Given the description of an element on the screen output the (x, y) to click on. 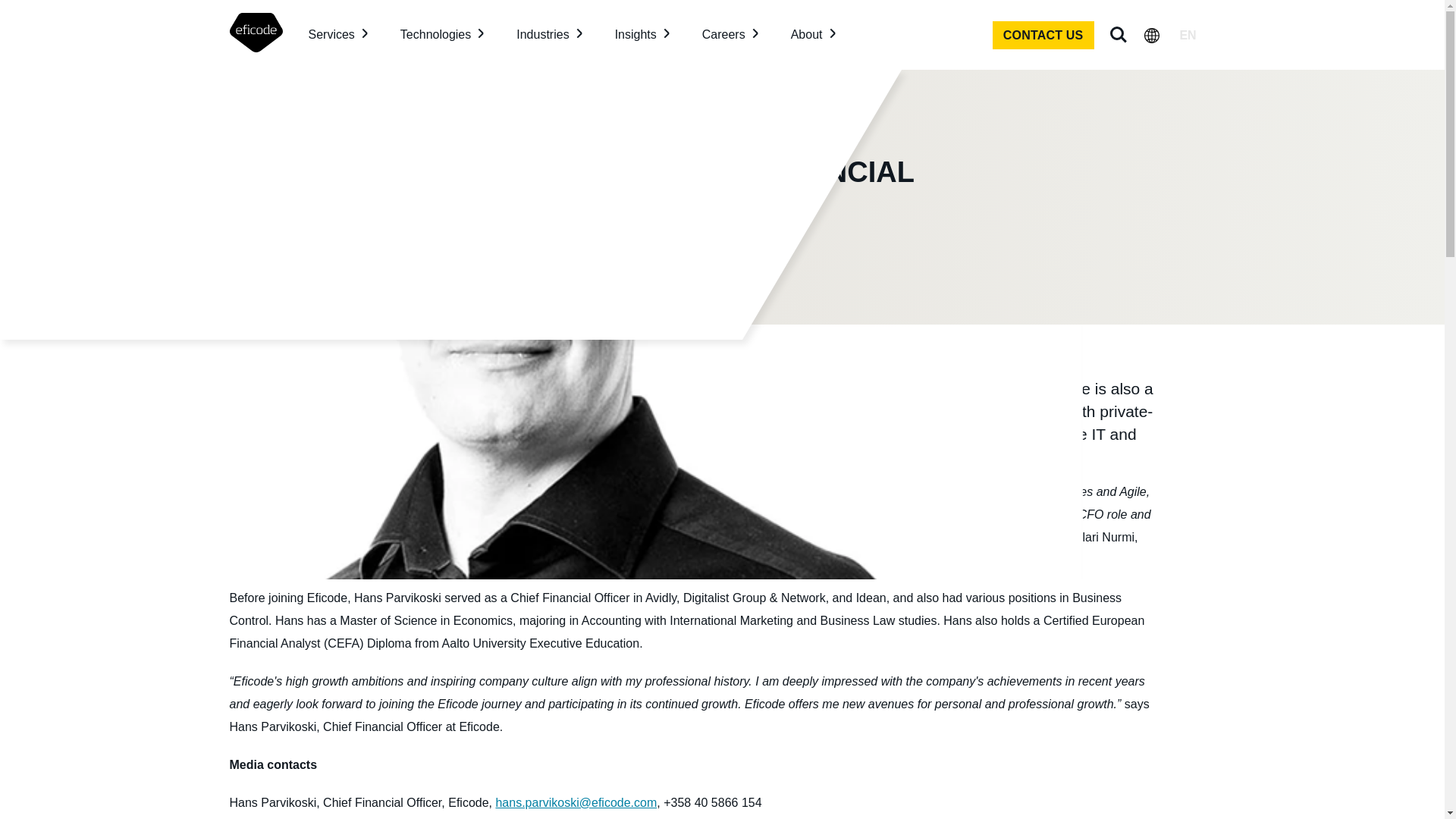
Search (1117, 34)
EN (1187, 35)
Technologies (441, 34)
Services (336, 34)
